Given the description of an element on the screen output the (x, y) to click on. 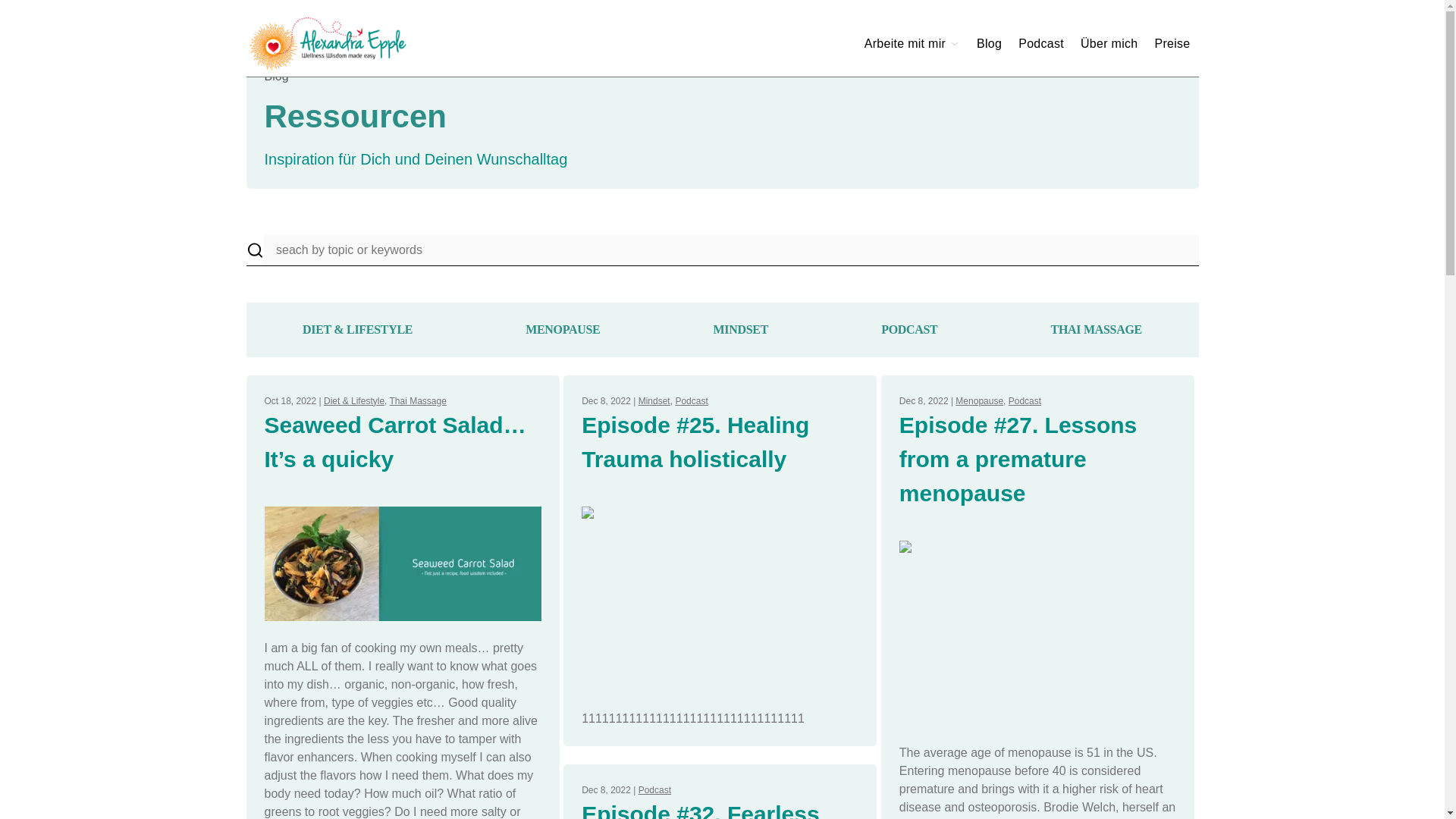
THAI MASSAGE (1096, 330)
Menopause (979, 400)
Podcast (1040, 43)
Blog (989, 43)
MENOPAUSE (562, 330)
Mindset (654, 400)
Podcast (691, 400)
MINDSET (740, 330)
Ayurveda Coaching, Yoga Health Coaching, Thai Massage (359, 43)
Arbeite mit mir (912, 43)
PODCAST (908, 330)
Podcast (1025, 400)
Podcast (655, 789)
Thai Massage (418, 400)
Preise (1171, 43)
